Given the description of an element on the screen output the (x, y) to click on. 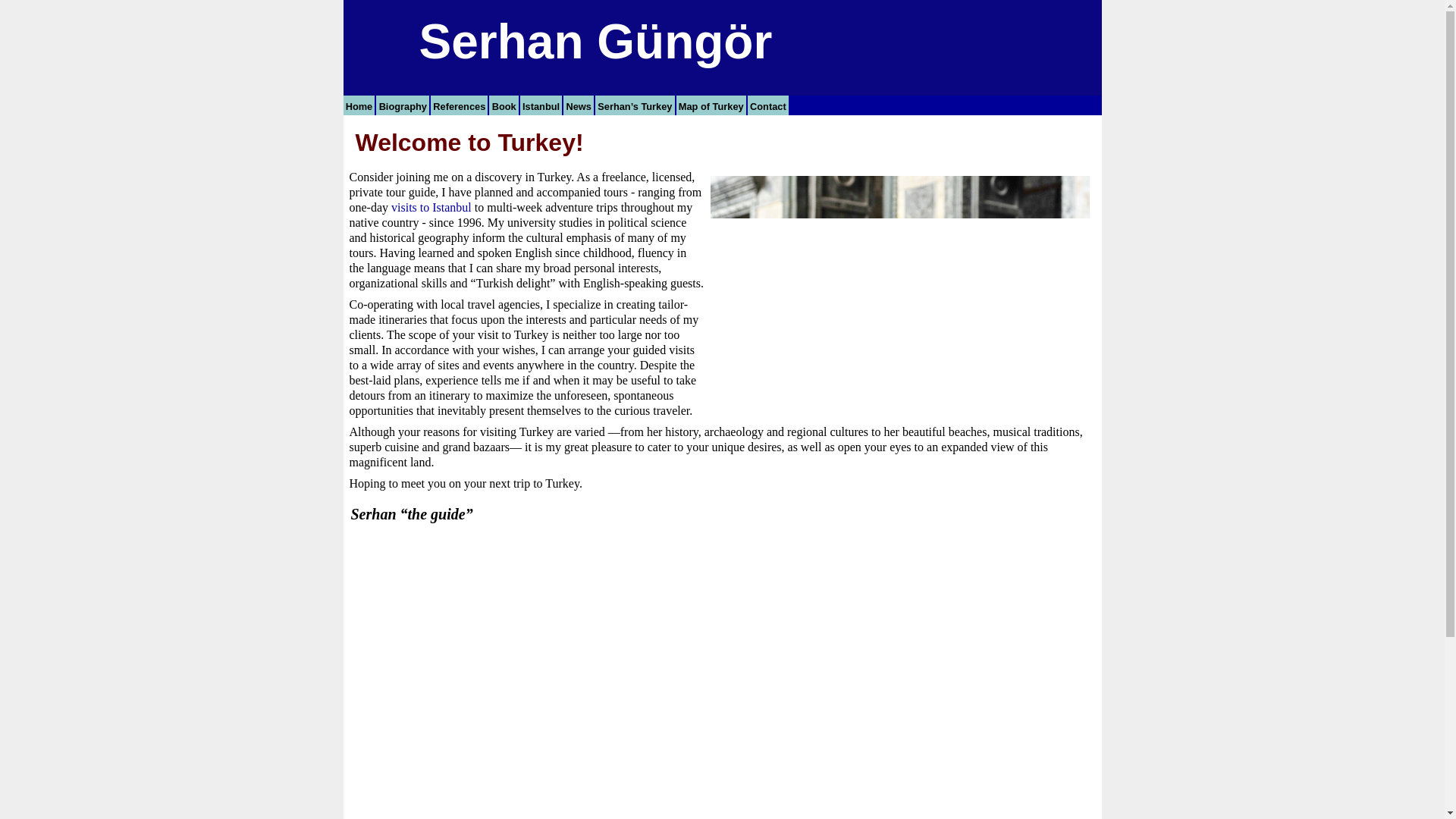
References (459, 105)
Book (504, 105)
Biography (402, 105)
Serhan Gungor, professional tour guide, Istanbul, Turkey (899, 291)
Istanbul (541, 105)
Home (358, 105)
Map of Turkey (712, 105)
News (579, 105)
Contact (768, 105)
visits to Istanbul (431, 206)
